Given the description of an element on the screen output the (x, y) to click on. 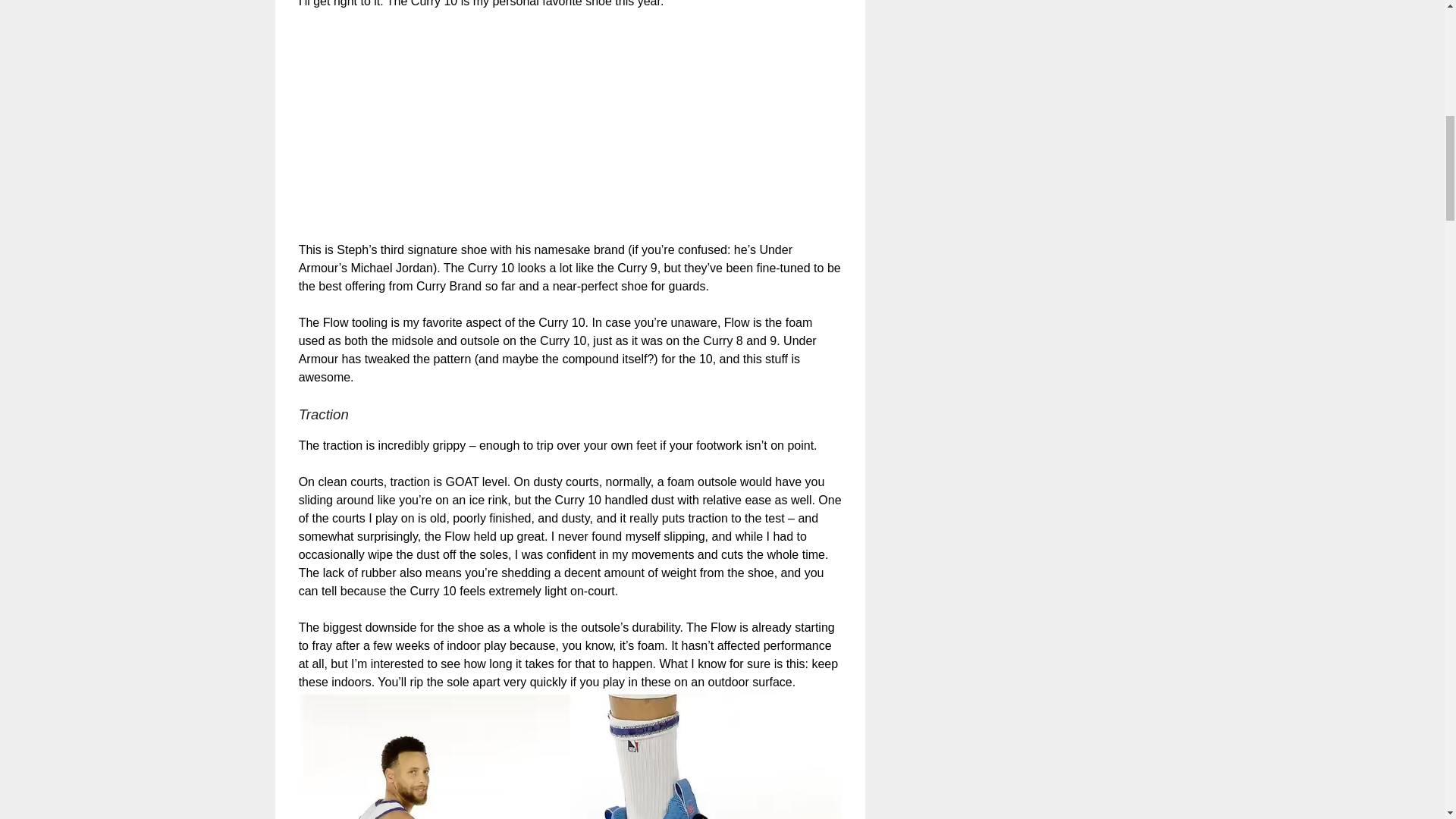
Advertisement (570, 134)
